Given the description of an element on the screen output the (x, y) to click on. 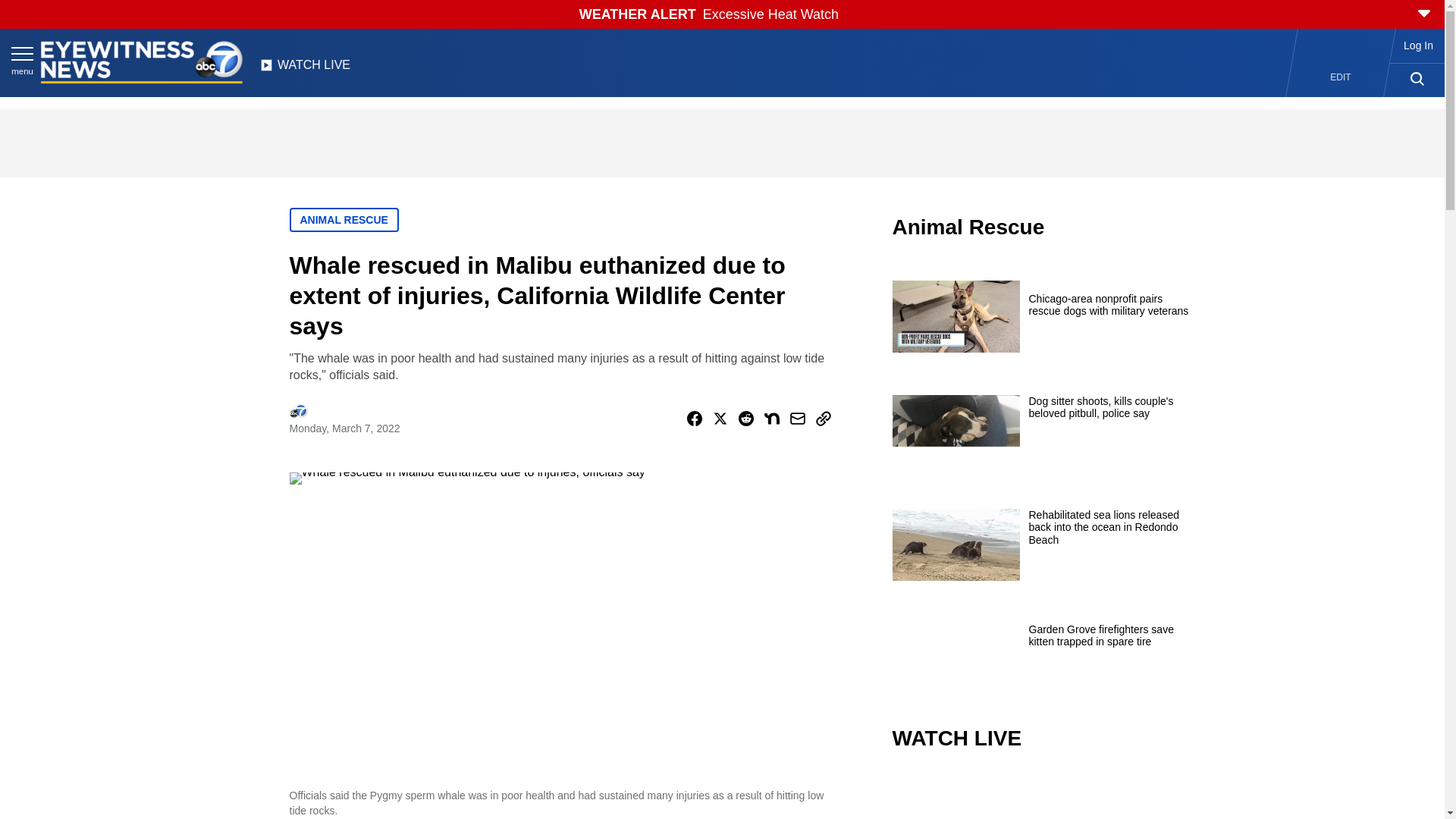
video.title (1043, 796)
WATCH LIVE (305, 69)
EDIT (1340, 77)
